Given the description of an element on the screen output the (x, y) to click on. 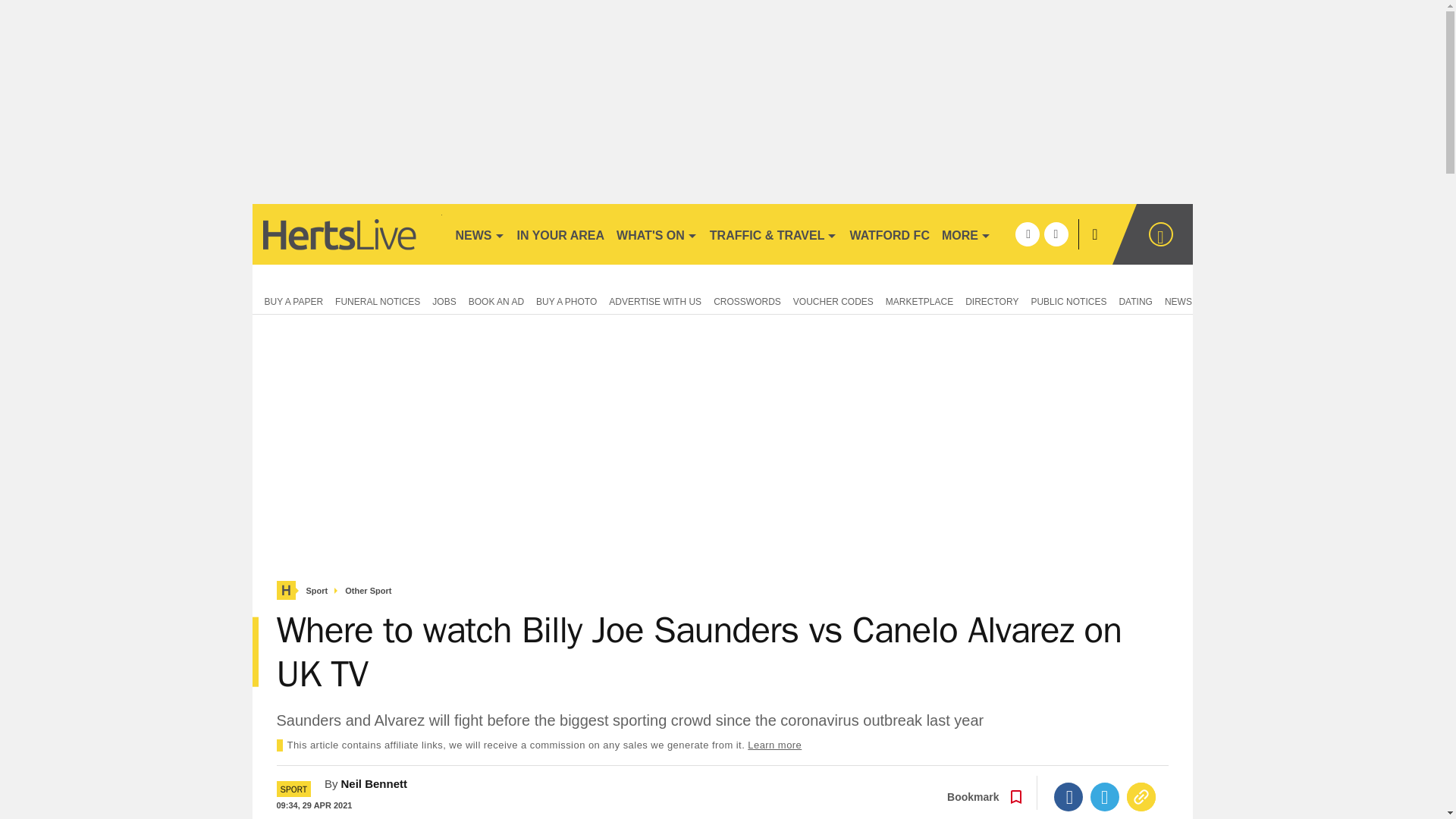
hertfordshiremercury (346, 233)
twitter (1055, 233)
IN YOUR AREA (561, 233)
Twitter (1104, 796)
WATFORD FC (888, 233)
Facebook (1068, 796)
MORE (966, 233)
NEWS (479, 233)
facebook (1026, 233)
WHAT'S ON (656, 233)
